Given the description of an element on the screen output the (x, y) to click on. 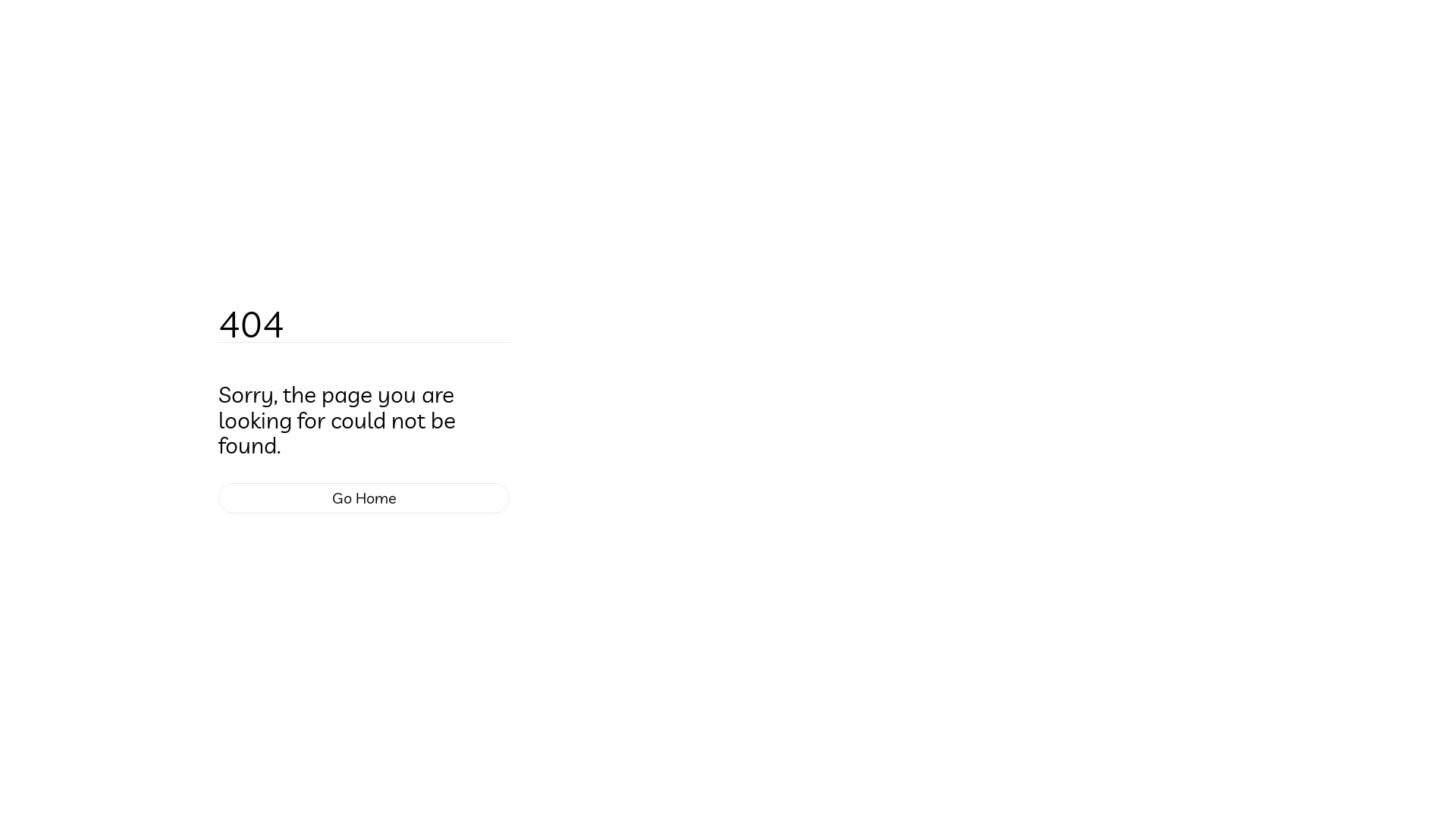
Go Home Element type: text (363, 498)
